Given the description of an element on the screen output the (x, y) to click on. 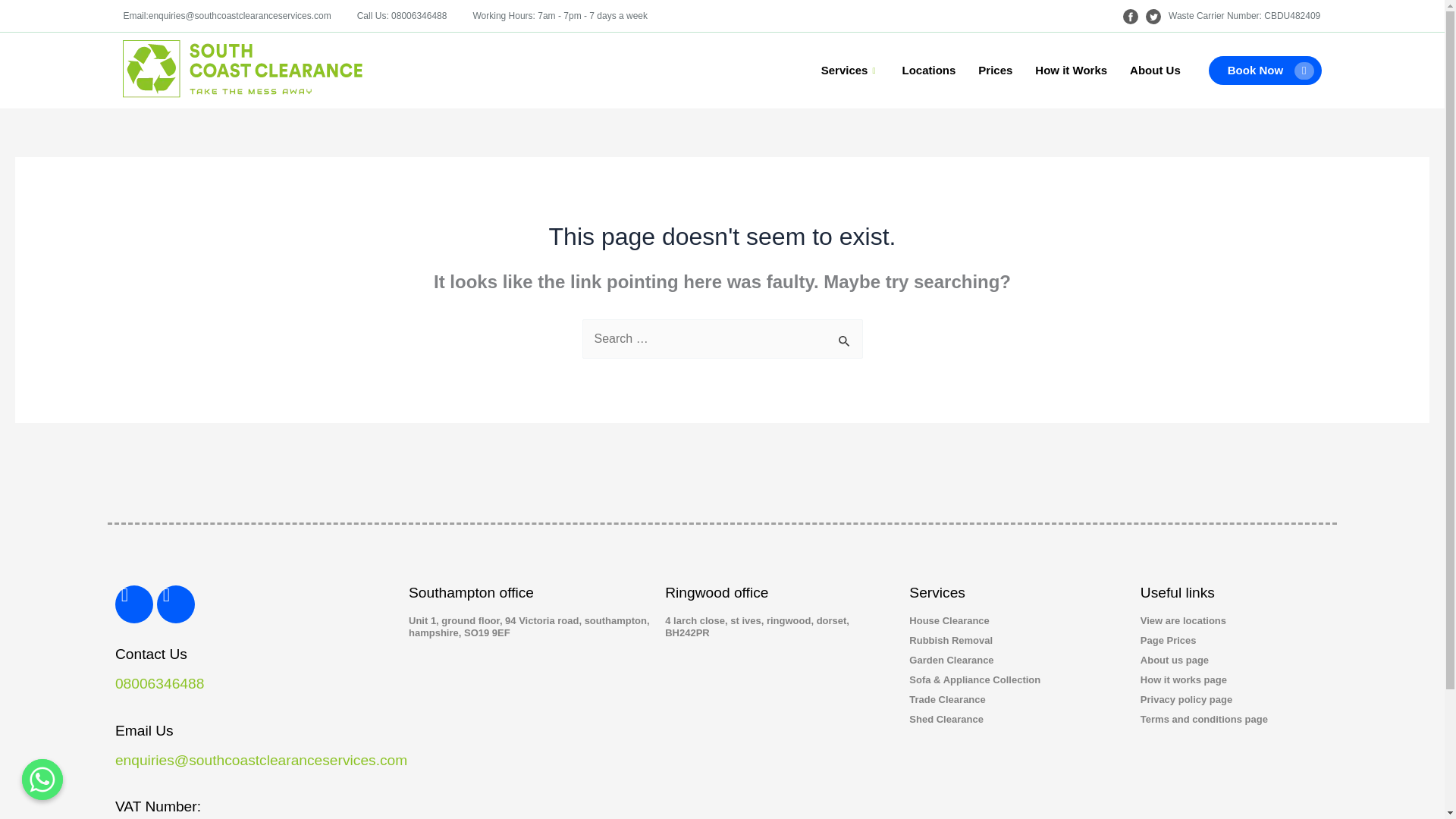
Services (850, 70)
House Clearance (1016, 621)
Rubbish Removal (1016, 640)
Locations (927, 70)
View are locations (1233, 621)
08006346488 (159, 683)
Garden Clearance (1016, 660)
Terms and conditions page (1233, 719)
Page Prices (1233, 640)
Privacy policy page (1233, 699)
